Given the description of an element on the screen output the (x, y) to click on. 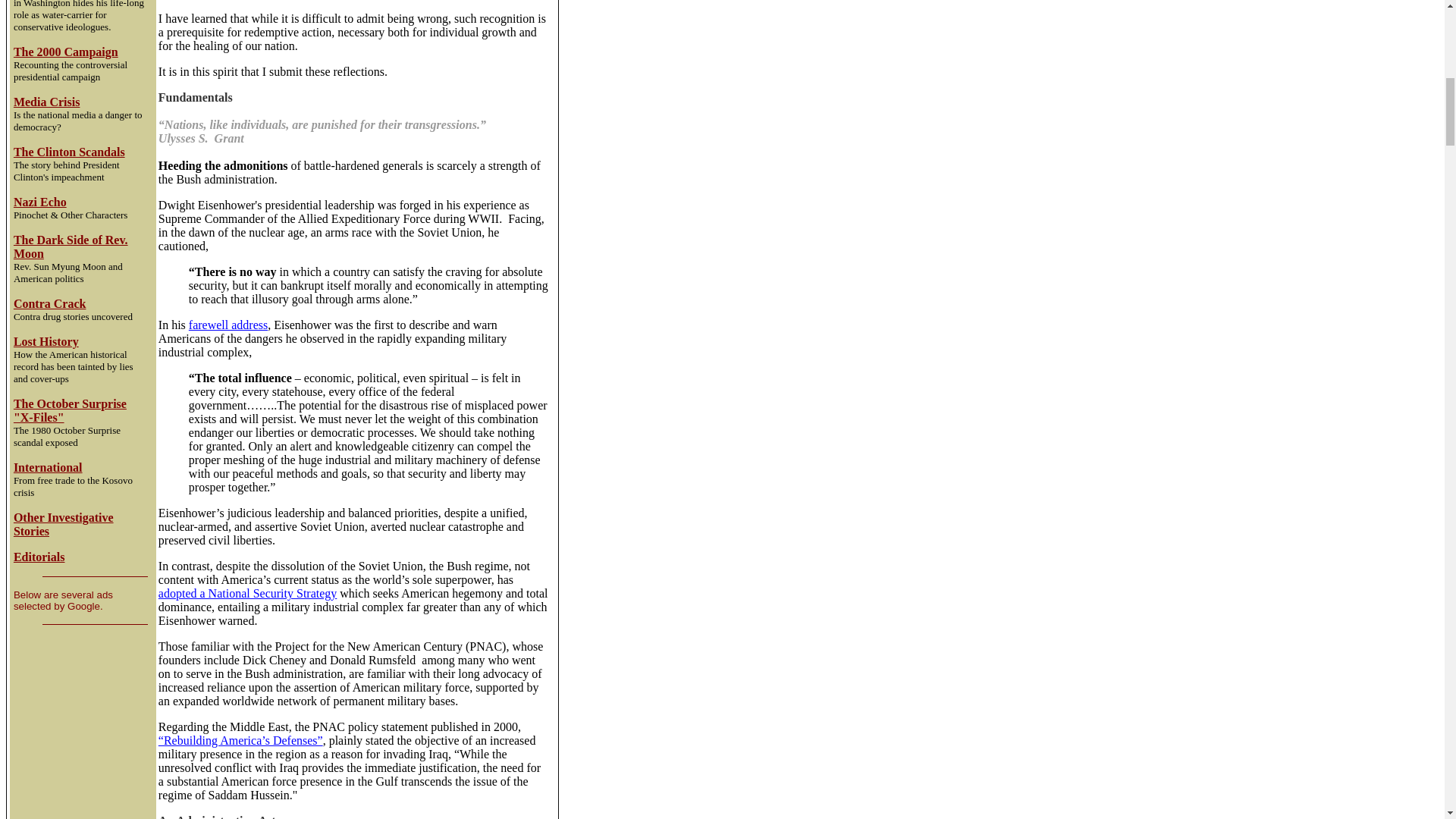
adopted a National Security Strategy (247, 593)
Media Crisis (46, 101)
International (47, 467)
Editorials (39, 556)
The Clinton Scandals (69, 152)
farewell address (228, 324)
Contra Crack (49, 303)
Nazi Echo (39, 201)
Other Investigative Stories (63, 524)
The 2000 Campaign (65, 51)
